Given the description of an element on the screen output the (x, y) to click on. 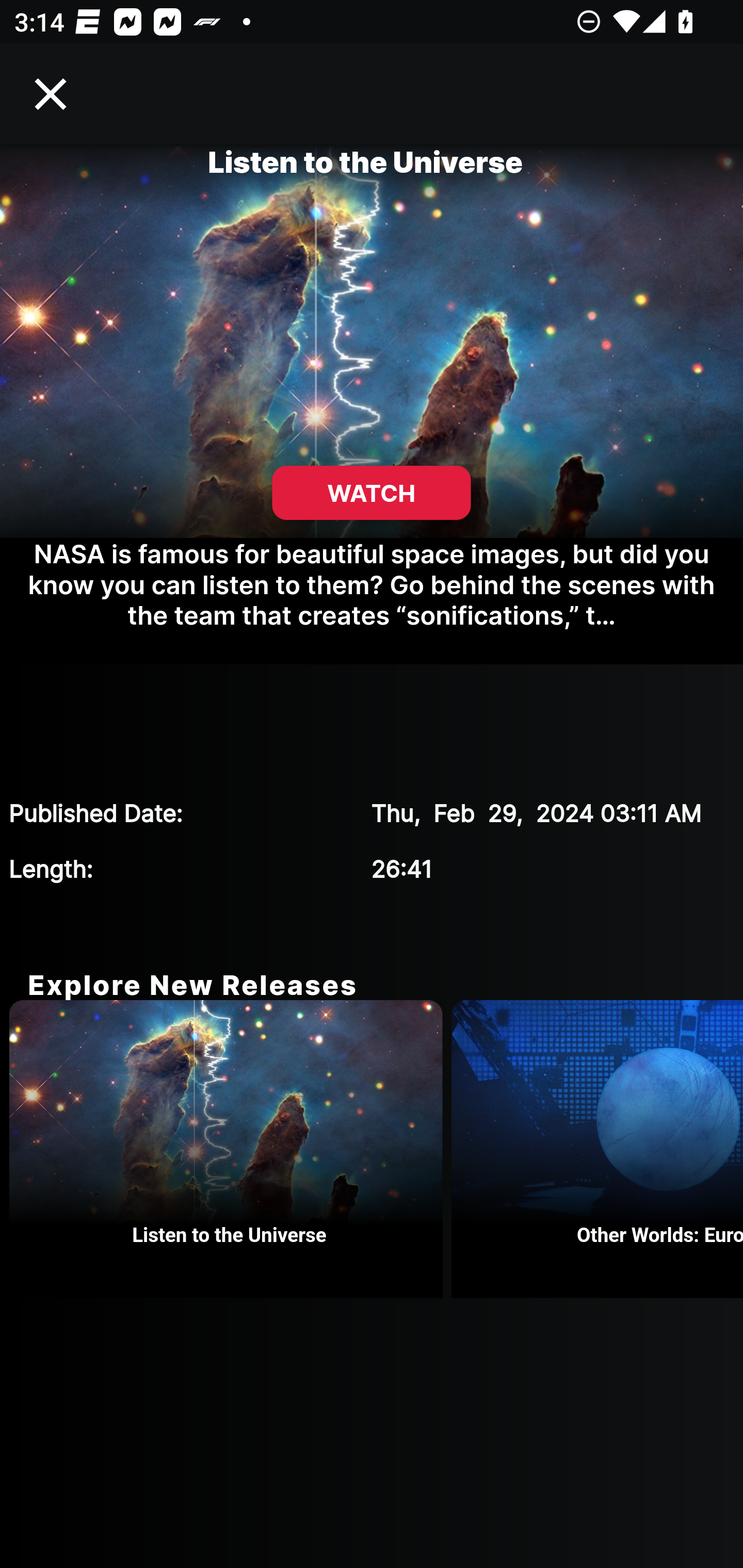
WATCH (371, 492)
Listen to the Universe (229, 1149)
Other Worlds: Europa (597, 1149)
